Given the description of an element on the screen output the (x, y) to click on. 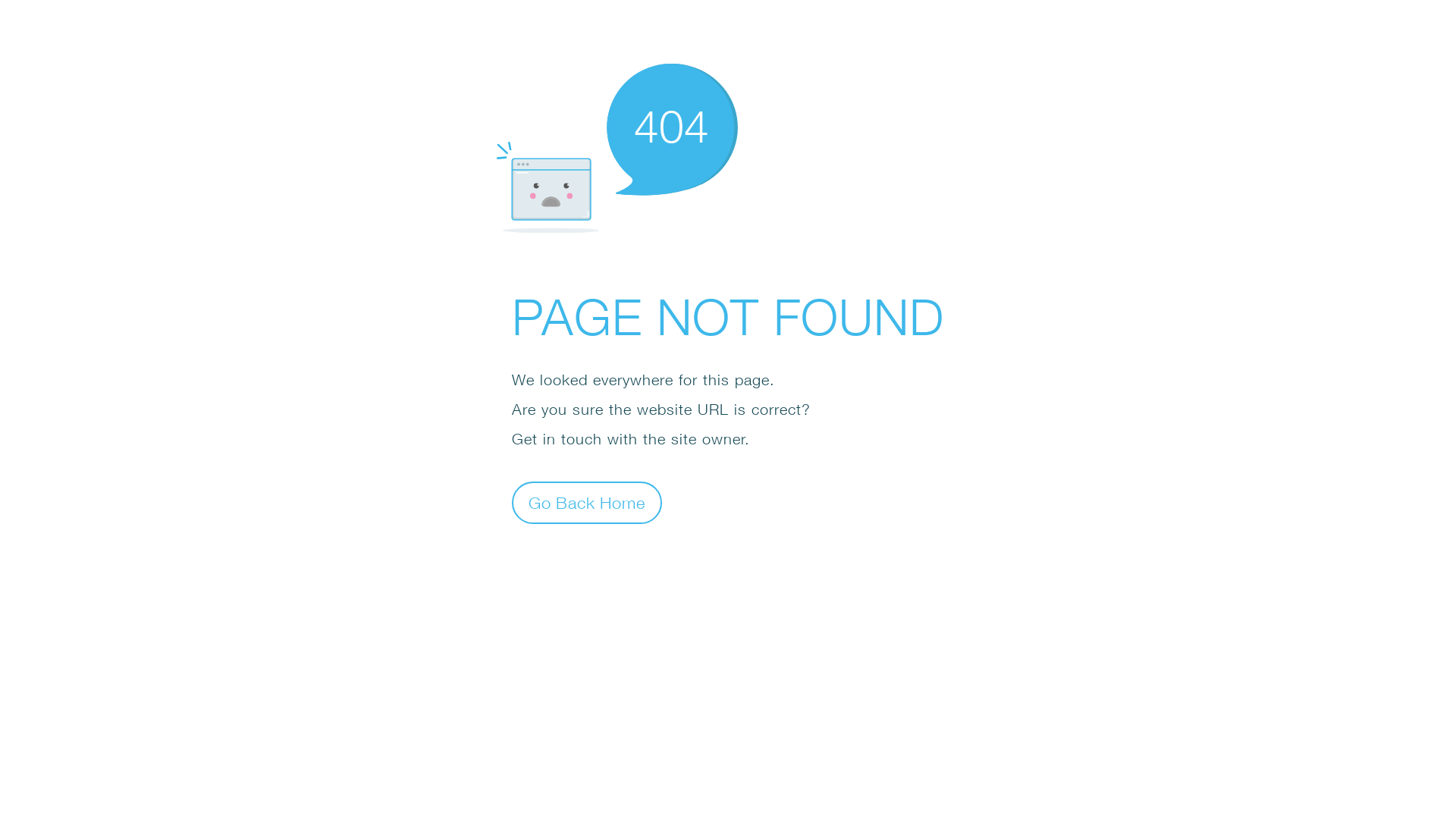
Go Back Home Element type: text (586, 502)
